Given the description of an element on the screen output the (x, y) to click on. 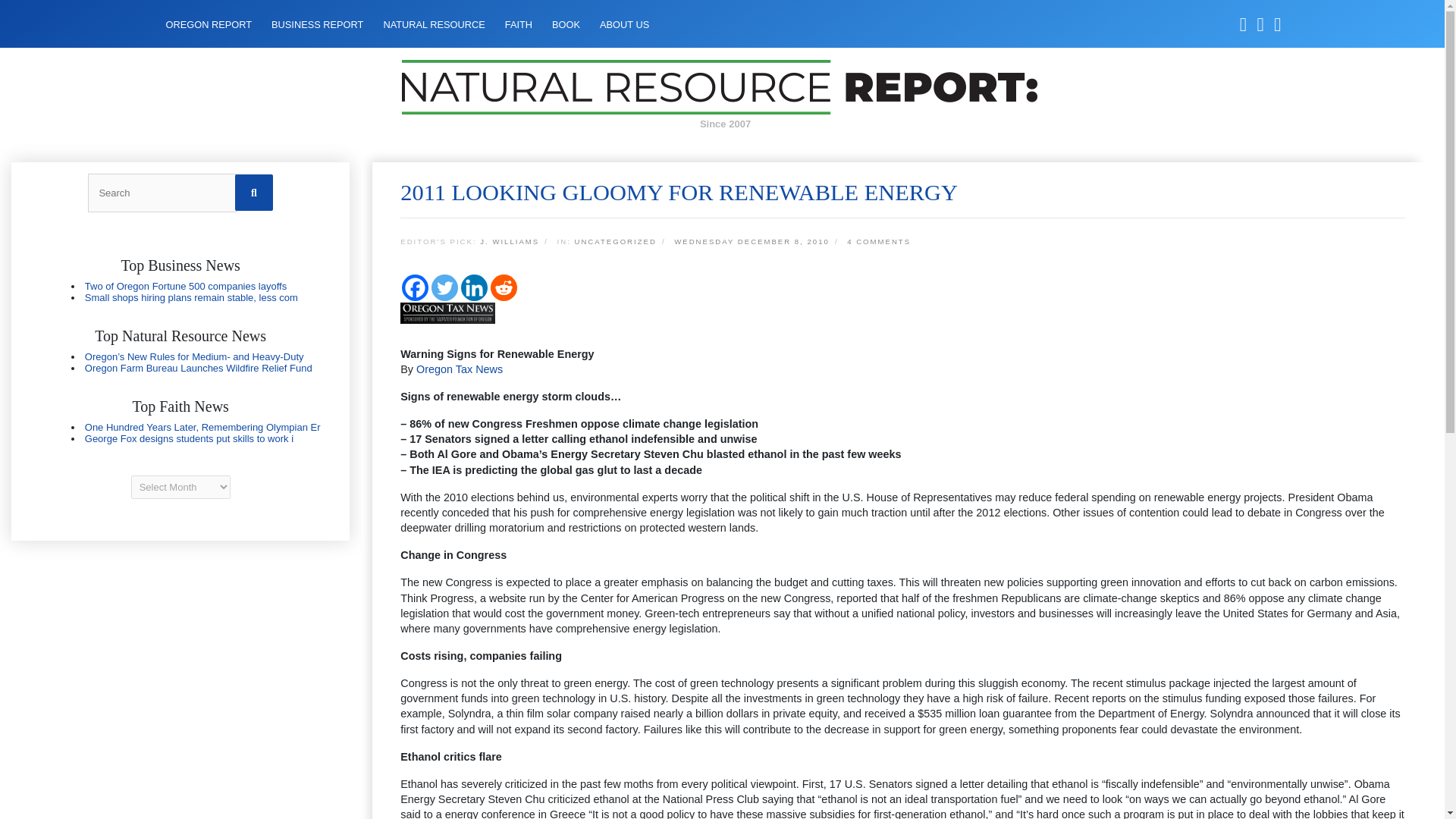
Two of Oregon Fortune 500 companies layoffs (185, 285)
Oregon Farm Bureau Launches Wildfire Relief Fund (198, 367)
Two of Oregon Fortune 500 companies layoffs (185, 285)
George Fox designs students put skills to work i (189, 438)
Oregon (180, 362)
NATURAL RESOURCE (433, 24)
Oregon-tax-news (447, 312)
Oregon Farm Bureau Launches Wildfire Relief Fund (198, 367)
Reddit (503, 287)
